Given the description of an element on the screen output the (x, y) to click on. 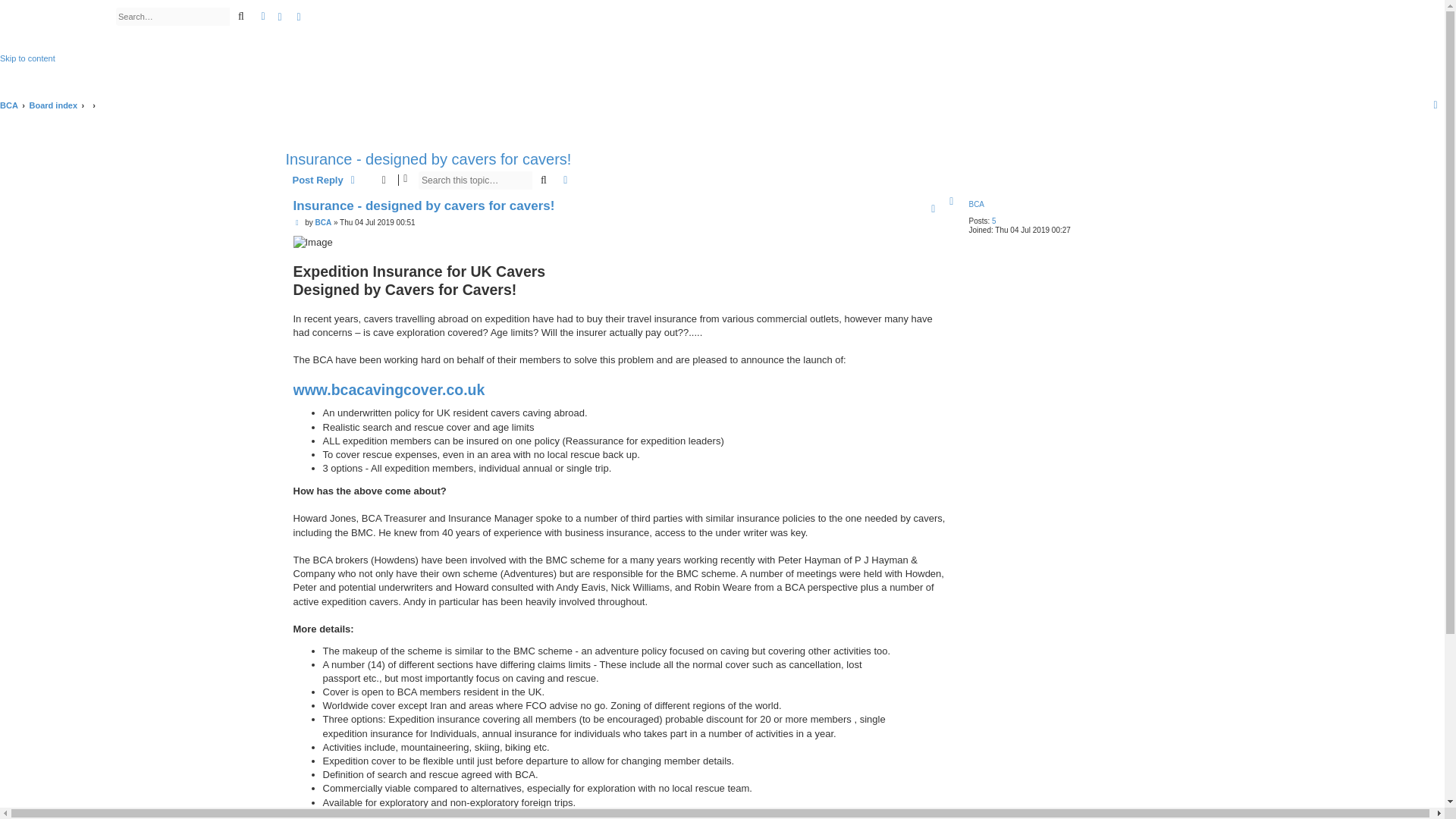
BCA (8, 104)
Reply with quote (933, 208)
Advanced search (565, 180)
BCA (58, 30)
Post Reply (325, 180)
Login (279, 17)
Search (543, 180)
Top (951, 202)
Advanced search (262, 16)
Search (543, 180)
